Given the description of an element on the screen output the (x, y) to click on. 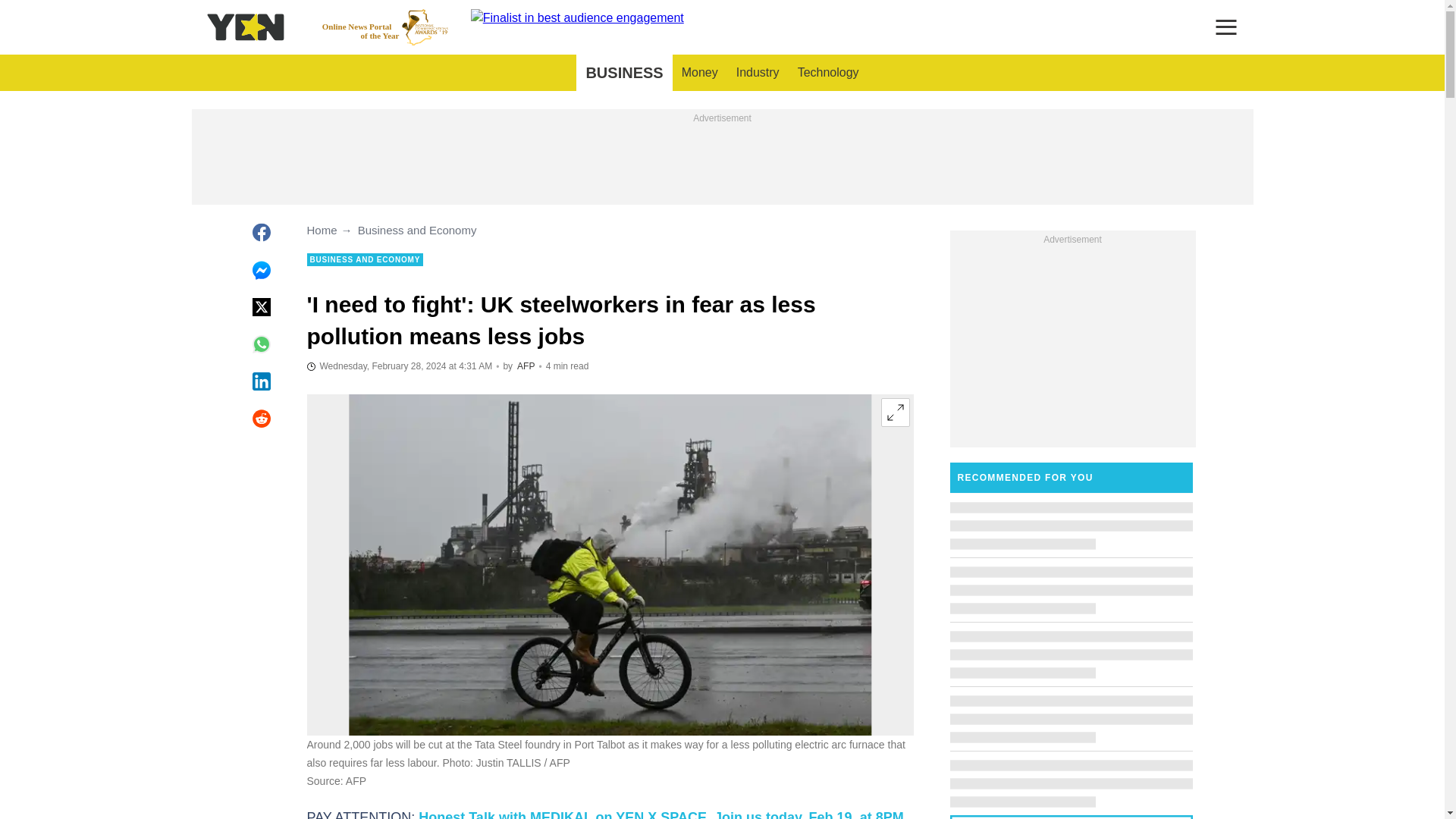
BUSINESS (623, 72)
Expand image (895, 412)
Technology (828, 72)
Author page (525, 366)
X Space (660, 814)
Money (699, 72)
Industry (757, 72)
2024-02-28T04:31:07Z (384, 27)
